Given the description of an element on the screen output the (x, y) to click on. 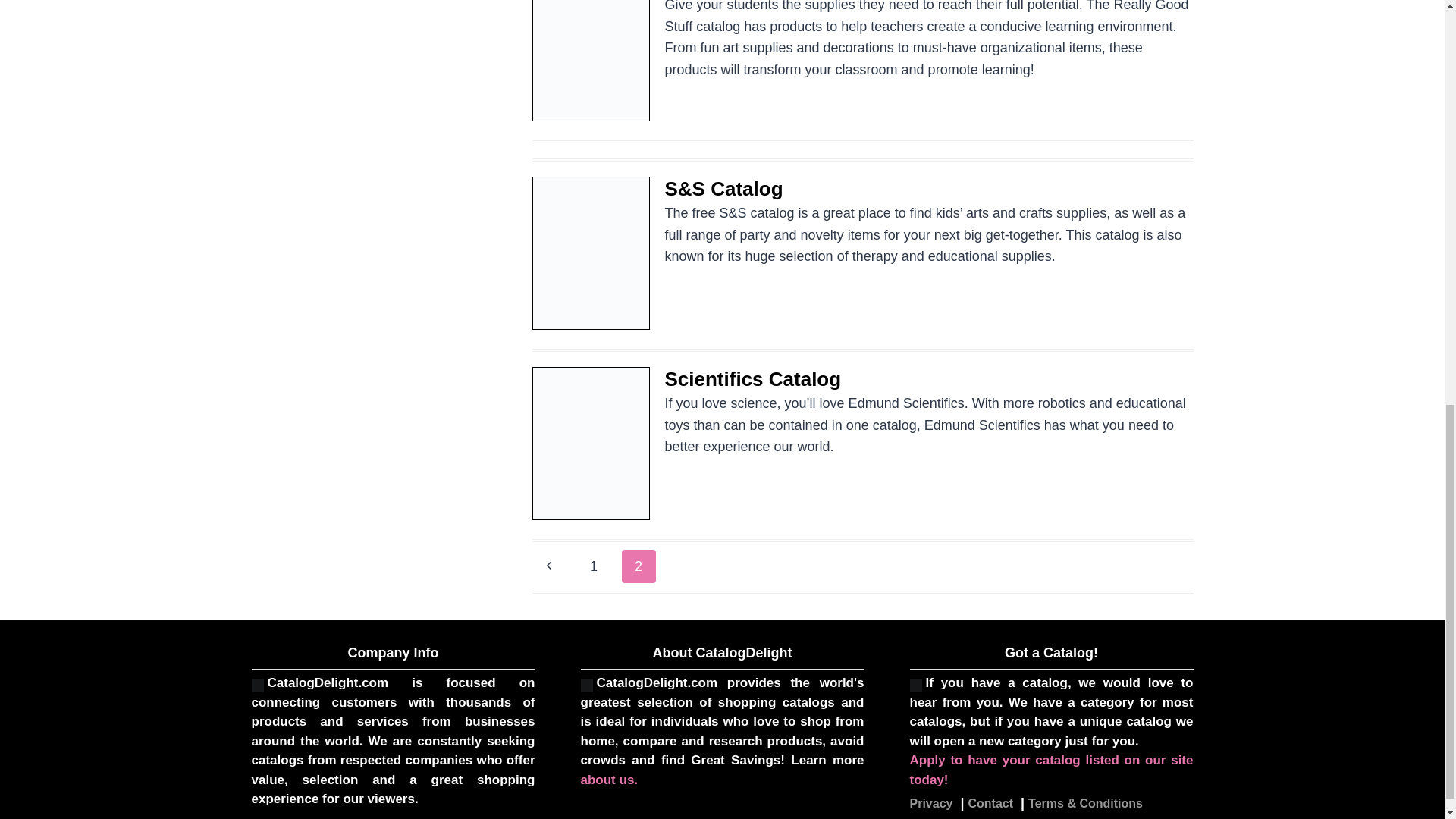
Scientifics Catalog (752, 378)
Previous Page (549, 566)
1 (593, 566)
